Given the description of an element on the screen output the (x, y) to click on. 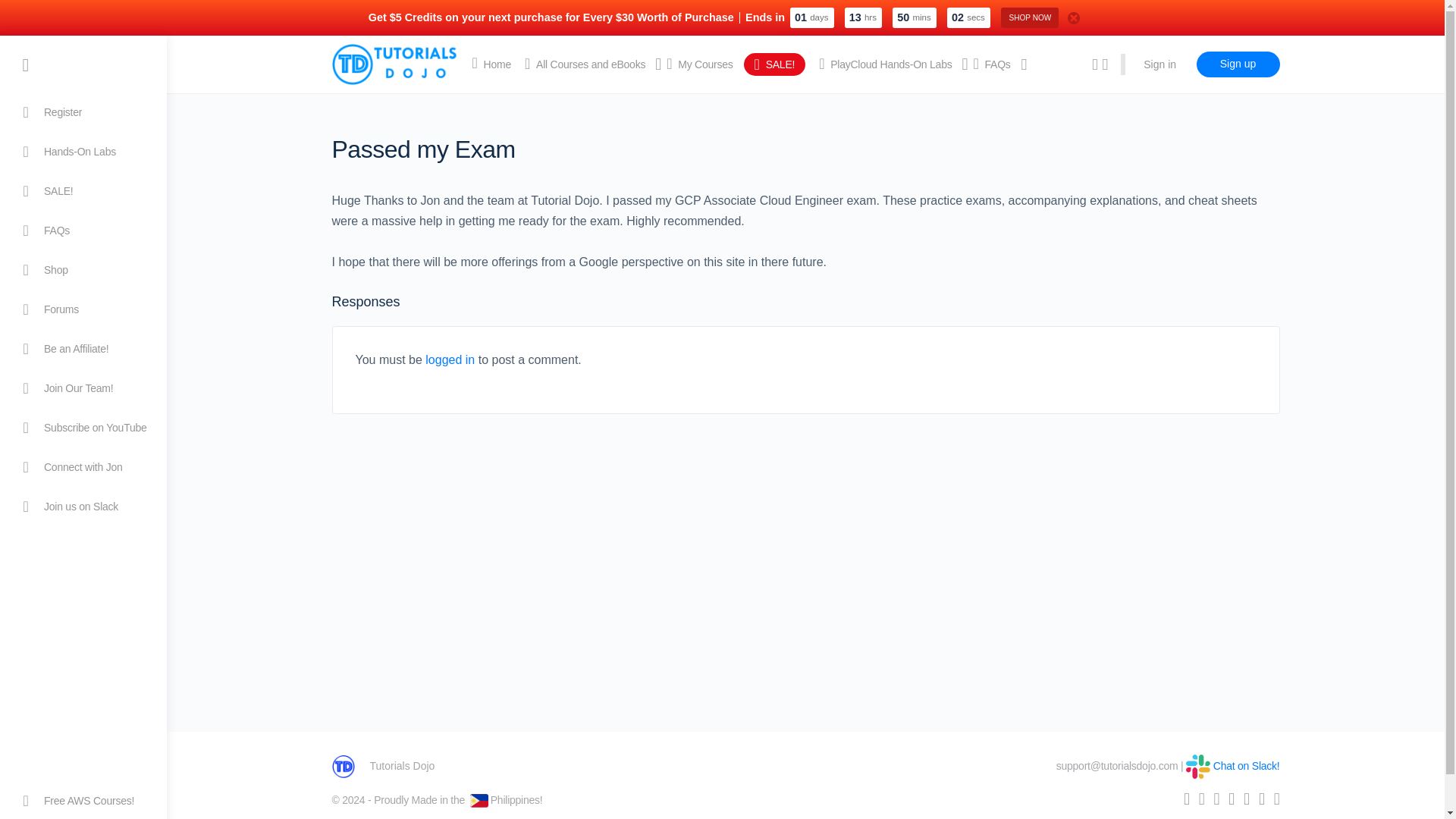
SALE! (83, 190)
Hands-On Labs (83, 151)
Register (83, 112)
Forums (83, 309)
Subscribe on YouTube (83, 427)
Free AWS Courses! (83, 800)
Connect with Jon (83, 466)
Join Our Team! (83, 388)
Join us on Slack (83, 506)
Be an Affiliate! (83, 348)
Shop (83, 269)
FAQs (83, 230)
All Courses and eBooks (584, 64)
